Given the description of an element on the screen output the (x, y) to click on. 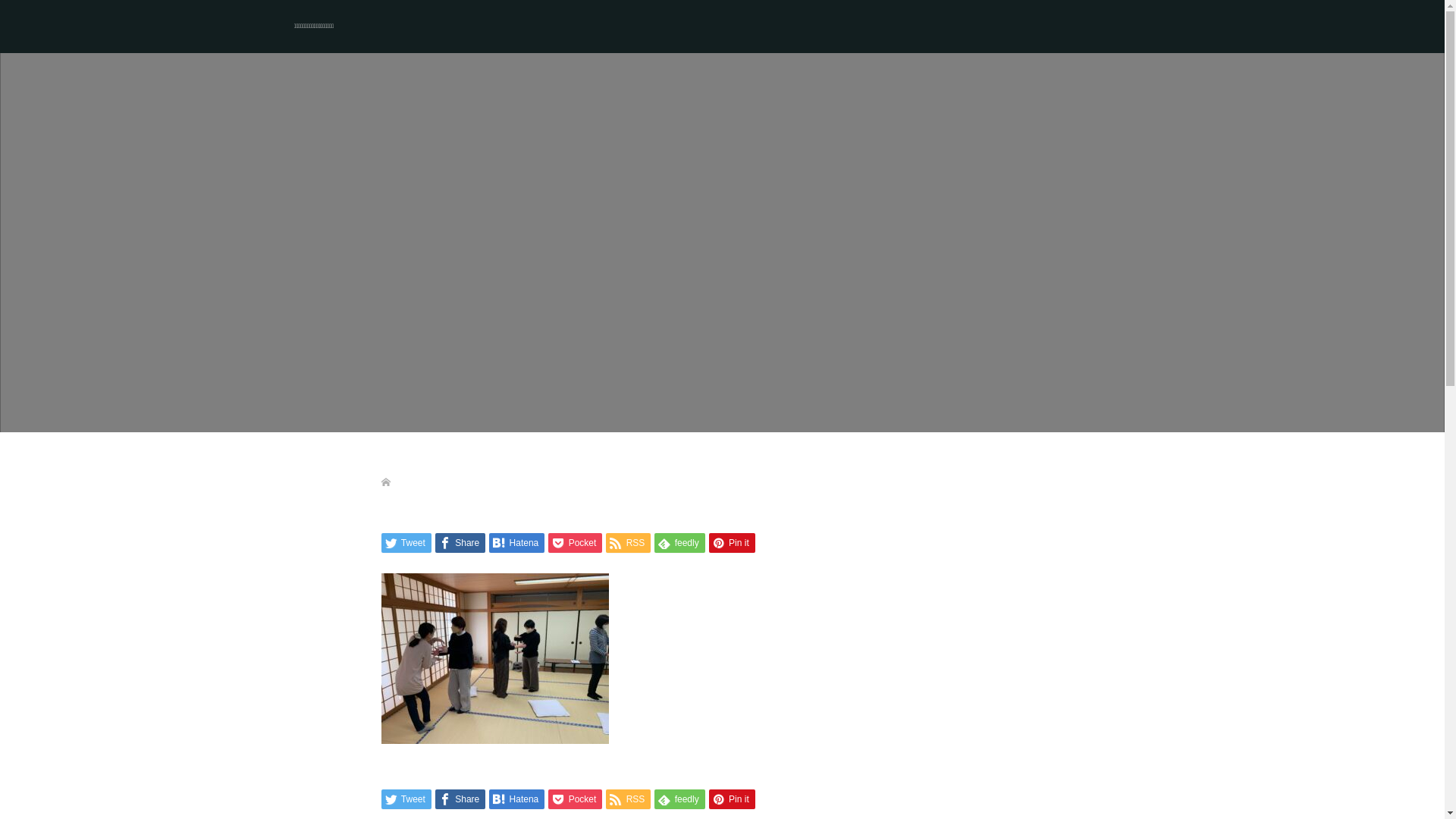
Tweet Element type: text (405, 799)
Pin it Element type: text (732, 542)
Pocket Element type: text (575, 799)
RSS Element type: text (627, 799)
RSS Element type: text (627, 542)
Share Element type: text (460, 799)
Hatena Element type: text (516, 542)
Pocket Element type: text (575, 542)
Share Element type: text (460, 542)
feedly Element type: text (679, 542)
Hatena Element type: text (516, 799)
Tweet Element type: text (405, 542)
Pin it Element type: text (732, 799)
feedly Element type: text (679, 799)
